Given the description of an element on the screen output the (x, y) to click on. 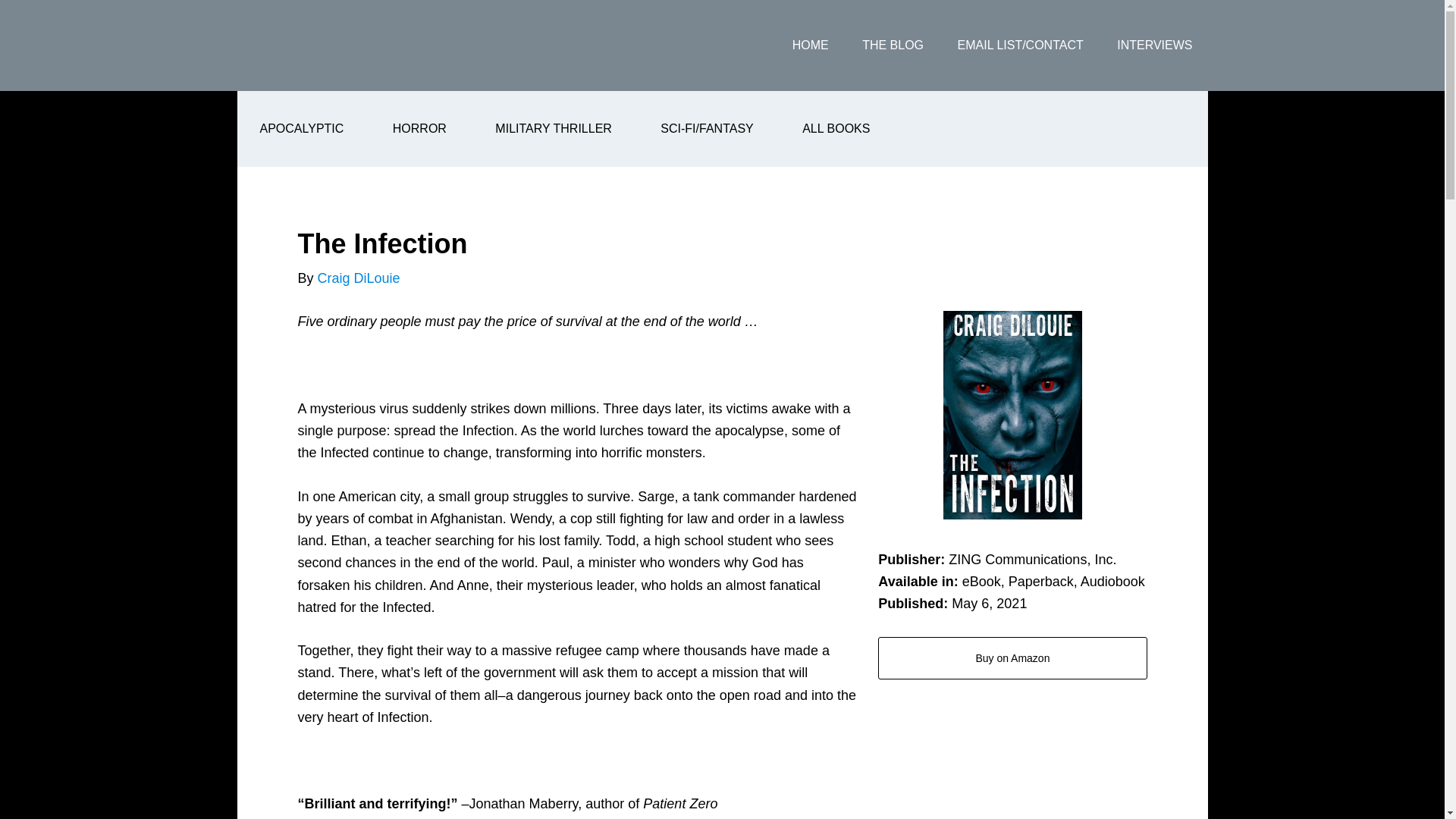
Buy on Amazon (1012, 658)
MILITARY THRILLER (552, 128)
ALL BOOKS (835, 128)
Craig DiLouie (358, 278)
INTERVIEWS (1154, 45)
HORROR (418, 128)
THE BLOG (893, 45)
APOCALYPTIC (300, 128)
